Given the description of an element on the screen output the (x, y) to click on. 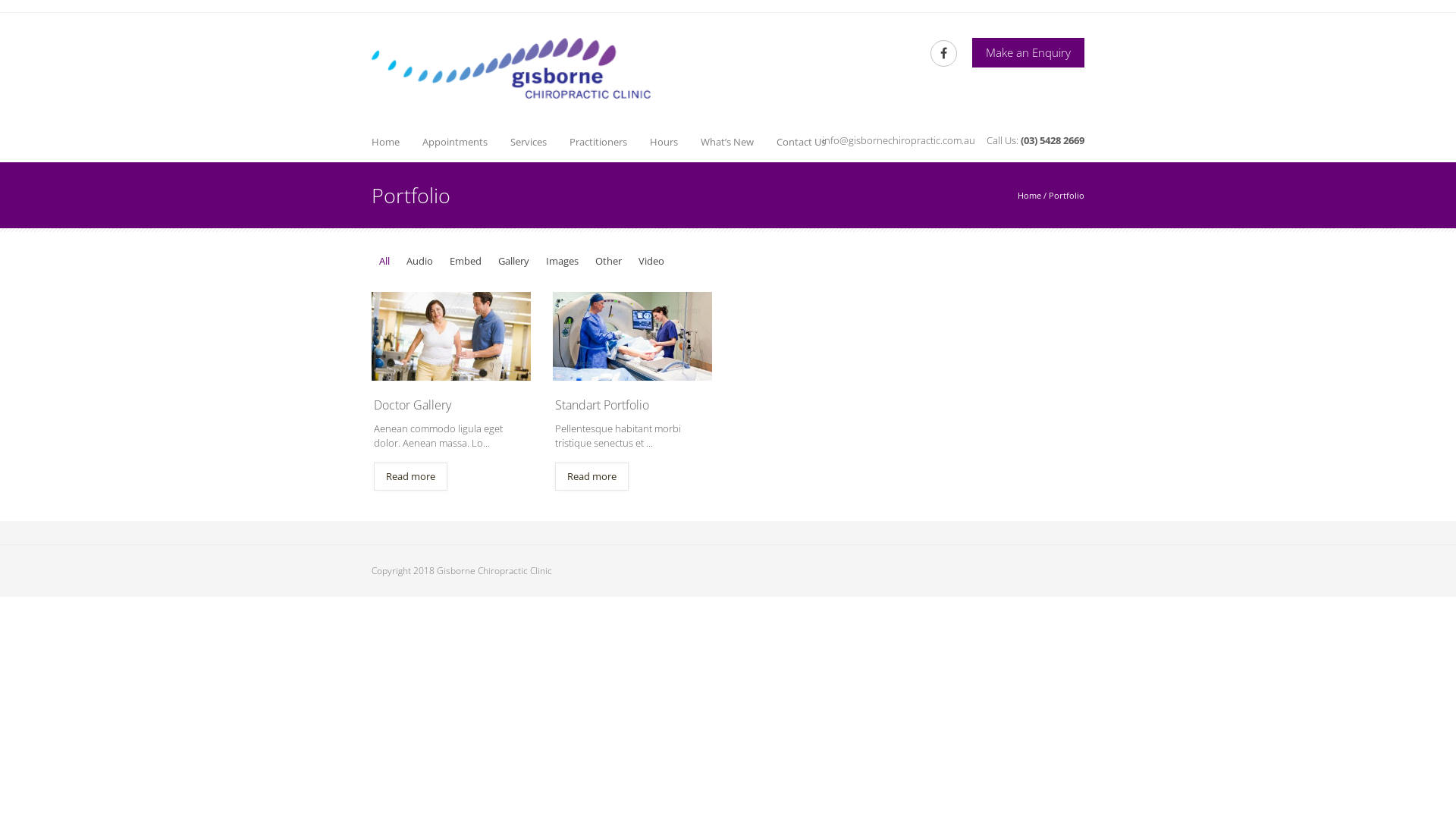
All Element type: text (384, 261)
Hours Element type: text (663, 141)
Video Element type: text (650, 261)
Standart Portfolio Element type: text (632, 404)
Home Element type: text (1029, 194)
Doctor Gallery Element type: text (450, 404)
Images Element type: text (562, 261)
Make an Enquiry Element type: text (1028, 52)
Gallery Element type: text (513, 261)
Audio Element type: text (419, 261)
Other Element type: text (608, 261)
Services Element type: text (528, 141)
Embed Element type: text (465, 261)
Home Element type: text (385, 141)
Practitioners Element type: text (598, 141)
Contact Us Element type: text (801, 141)
Appointments Element type: text (454, 141)
